Given the description of an element on the screen output the (x, y) to click on. 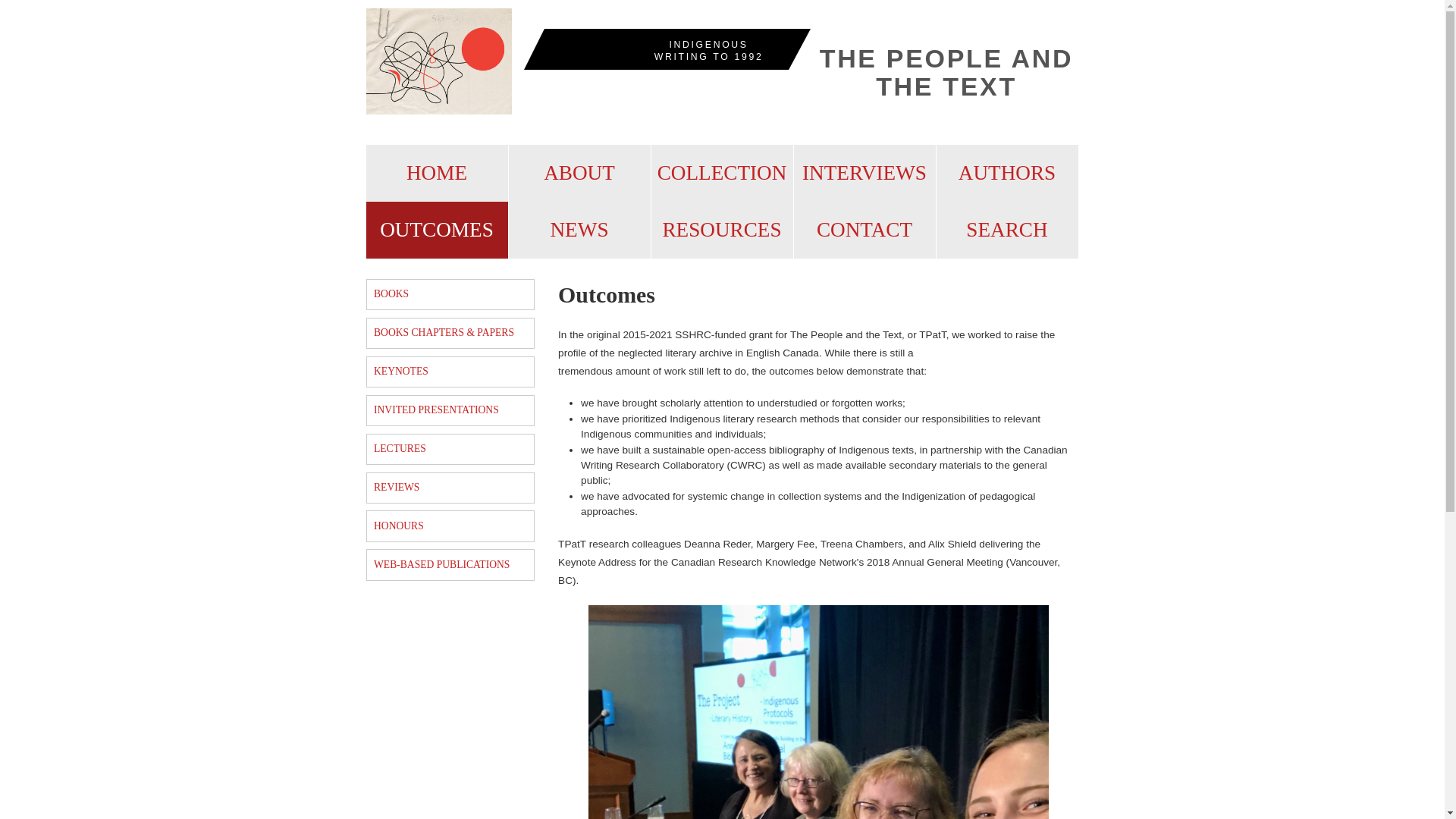
COLLECTION (721, 172)
AUTHORS (1007, 172)
KEYNOTES (450, 371)
Home (438, 62)
SEARCH (1007, 229)
RESOURCES (721, 229)
OUTCOMES (436, 229)
CONTACT (864, 229)
REVIEWS (450, 487)
WEB-BASED PUBLICATIONS (450, 564)
NEWS (579, 229)
ABOUT (579, 172)
HOME (436, 172)
HONOURS (450, 525)
INTERVIEWS (864, 172)
